Given the description of an element on the screen output the (x, y) to click on. 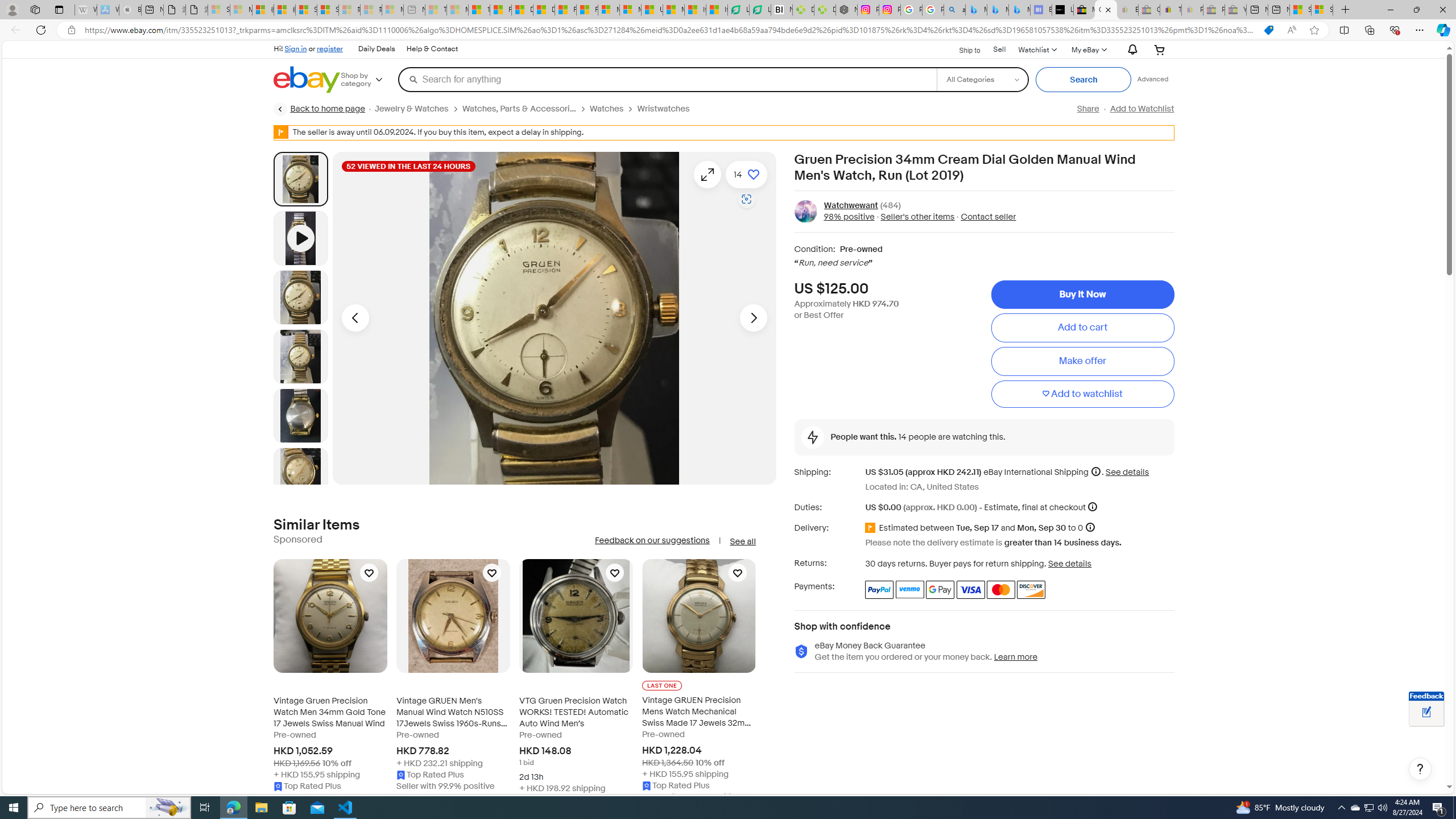
Food and Drink - MSN (500, 9)
Picture 3 of 13 (300, 356)
Watchwewant (850, 205)
eBay Home (306, 79)
Foo BAR | Trusted Community Engagement and Contributions (587, 9)
You have the best price! Shopping in Microsoft Edge (1268, 29)
Add to Watchlist (1141, 108)
Watches (613, 108)
Nordace - Nordace Edin Collection (846, 9)
